Given the description of an element on the screen output the (x, y) to click on. 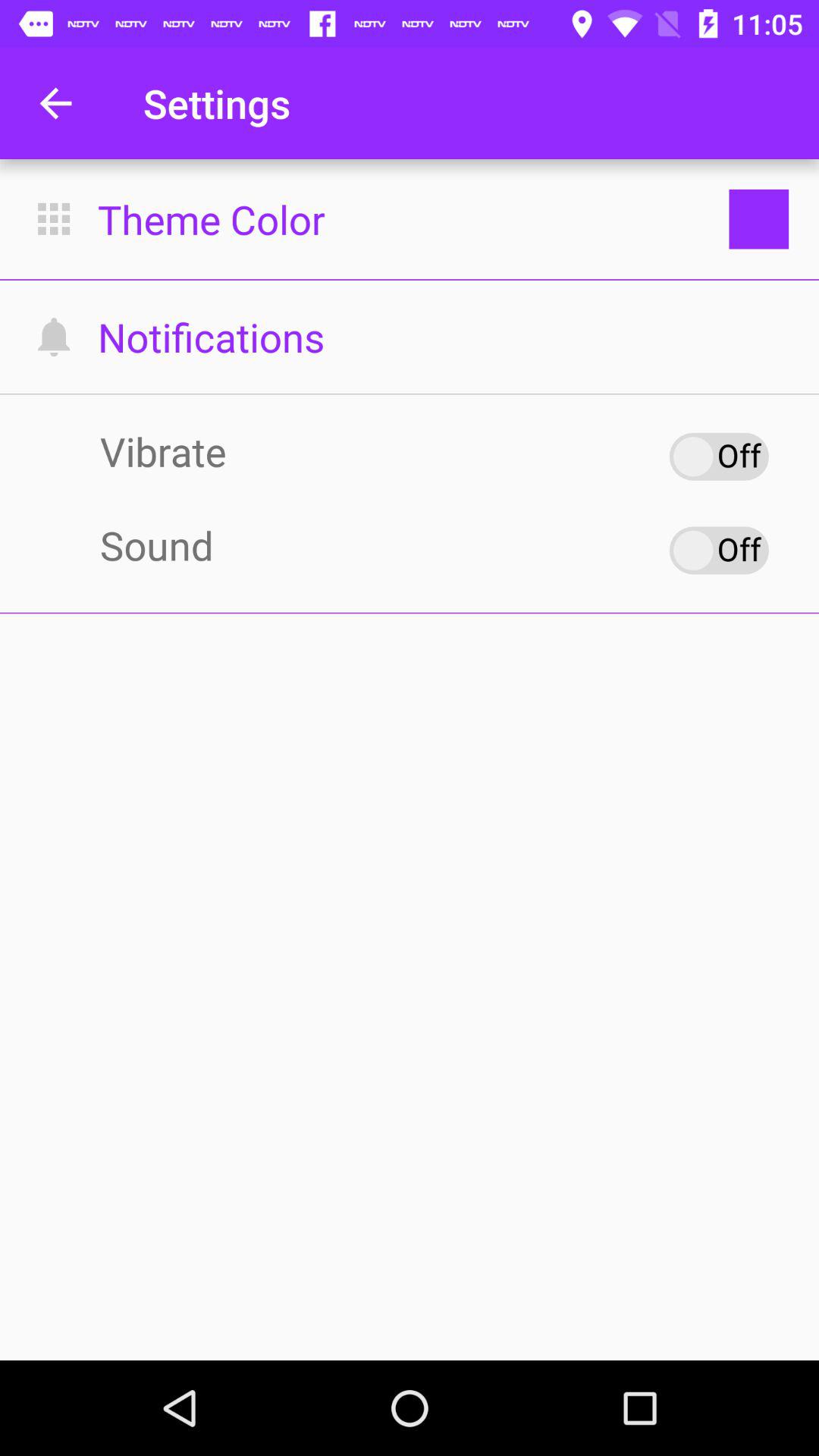
toggle vibrate option (718, 456)
